Given the description of an element on the screen output the (x, y) to click on. 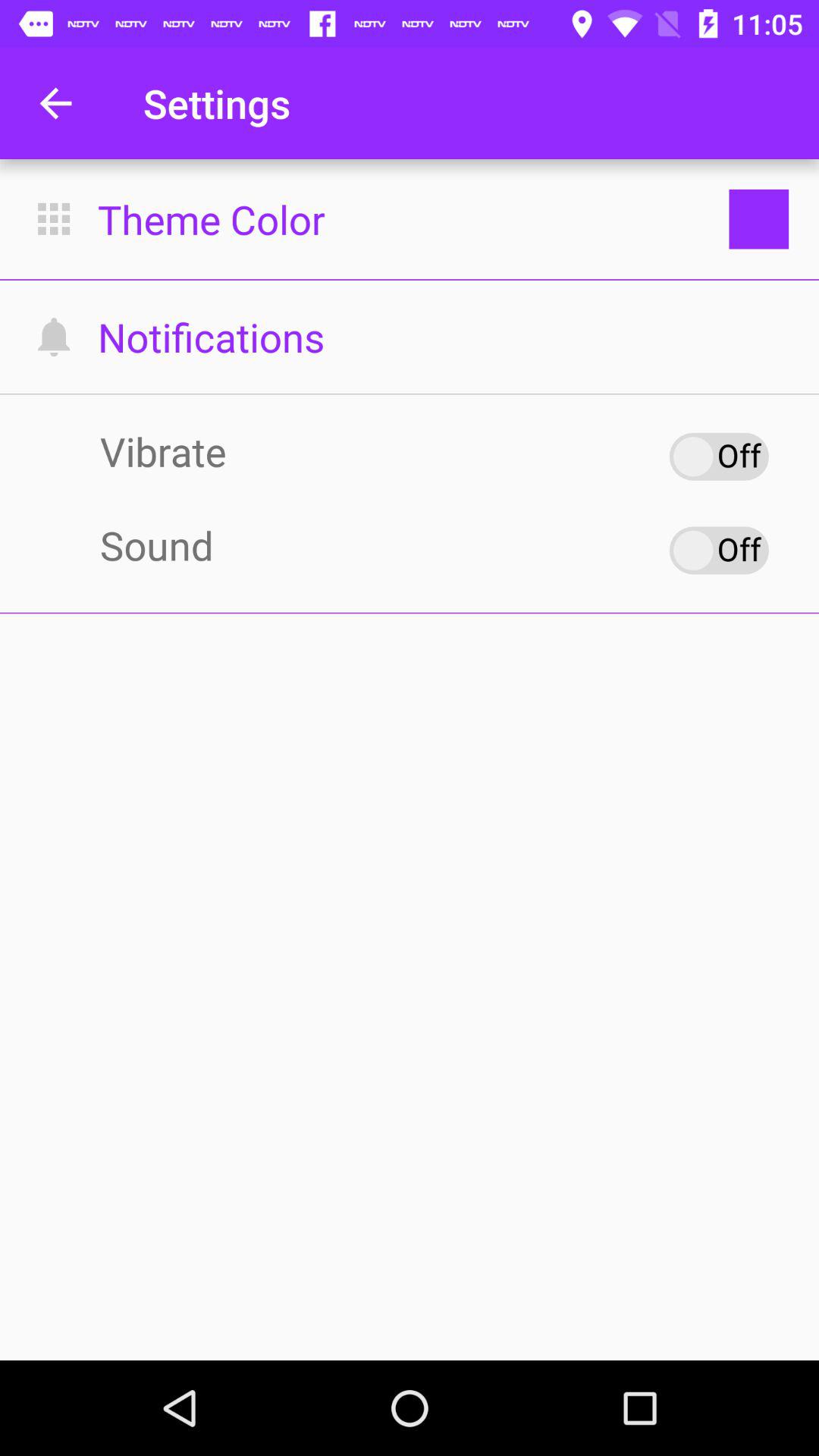
toggle vibrate option (718, 456)
